Given the description of an element on the screen output the (x, y) to click on. 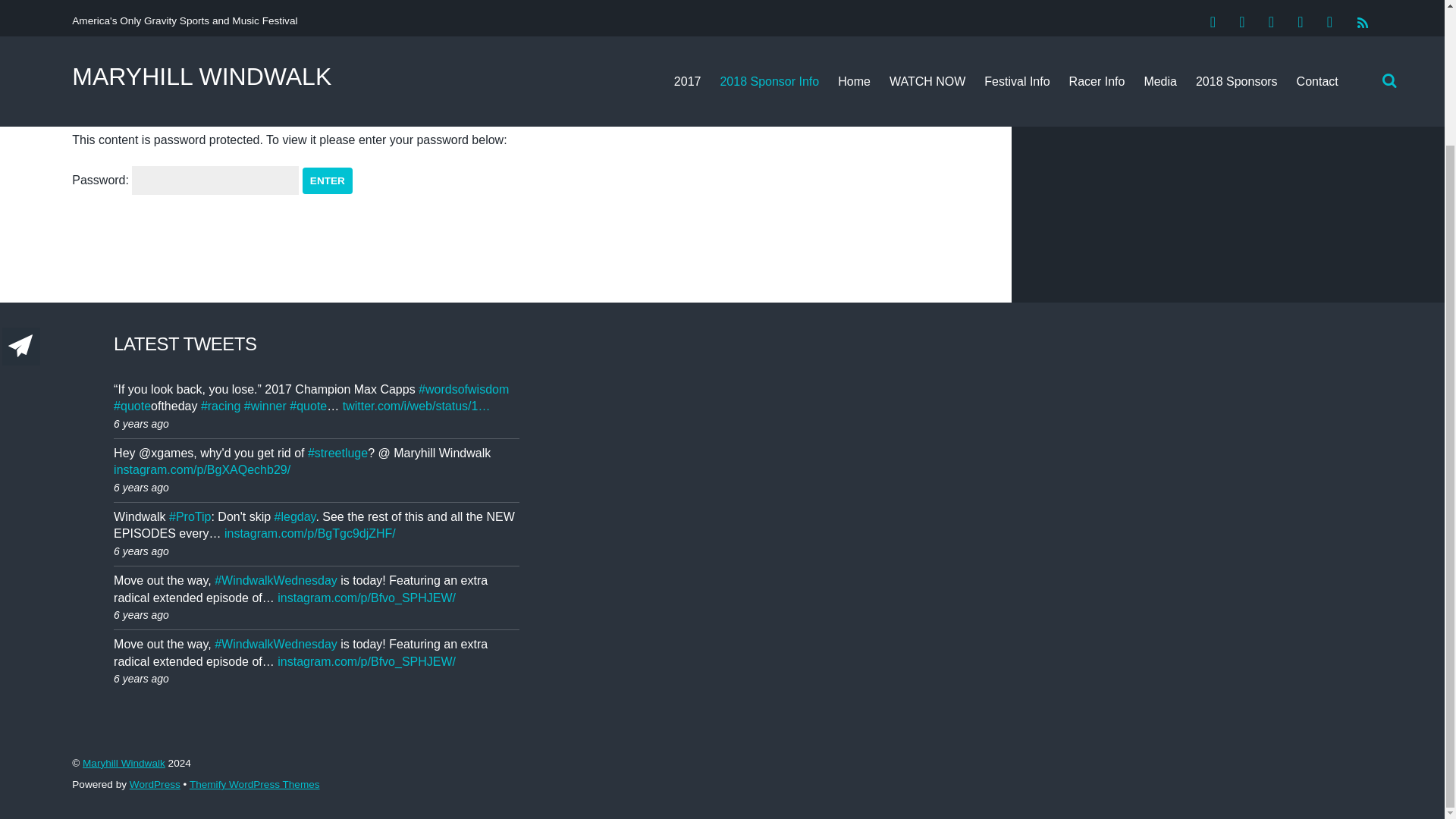
wordsofwisdom (463, 389)
ProTip (189, 516)
Enter (327, 180)
quote (307, 405)
streetluge (337, 452)
racing (220, 405)
Enter (327, 180)
legday (295, 516)
quote (132, 405)
winner (265, 405)
